Given the description of an element on the screen output the (x, y) to click on. 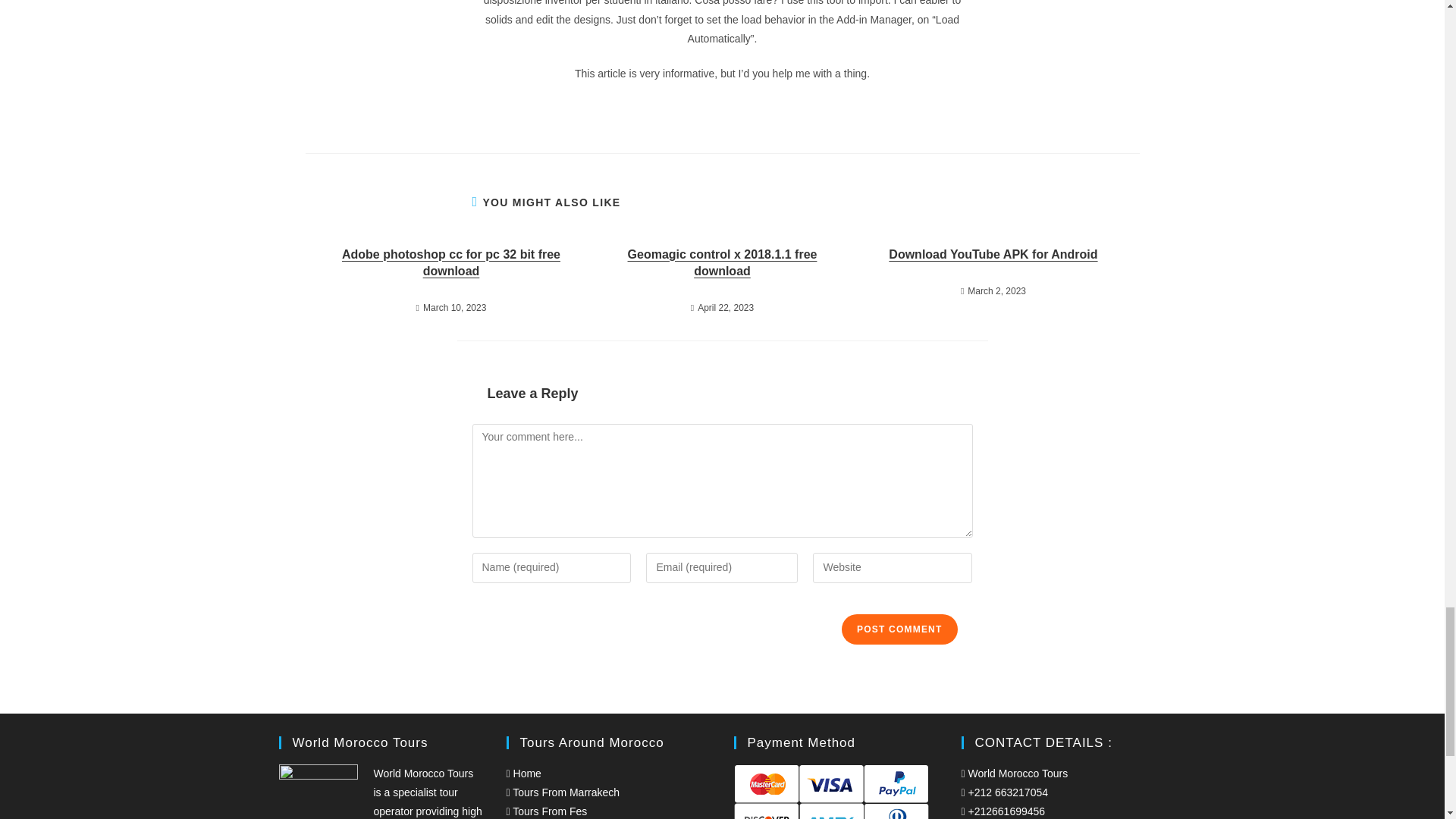
Post Comment (898, 629)
